Given the description of an element on the screen output the (x, y) to click on. 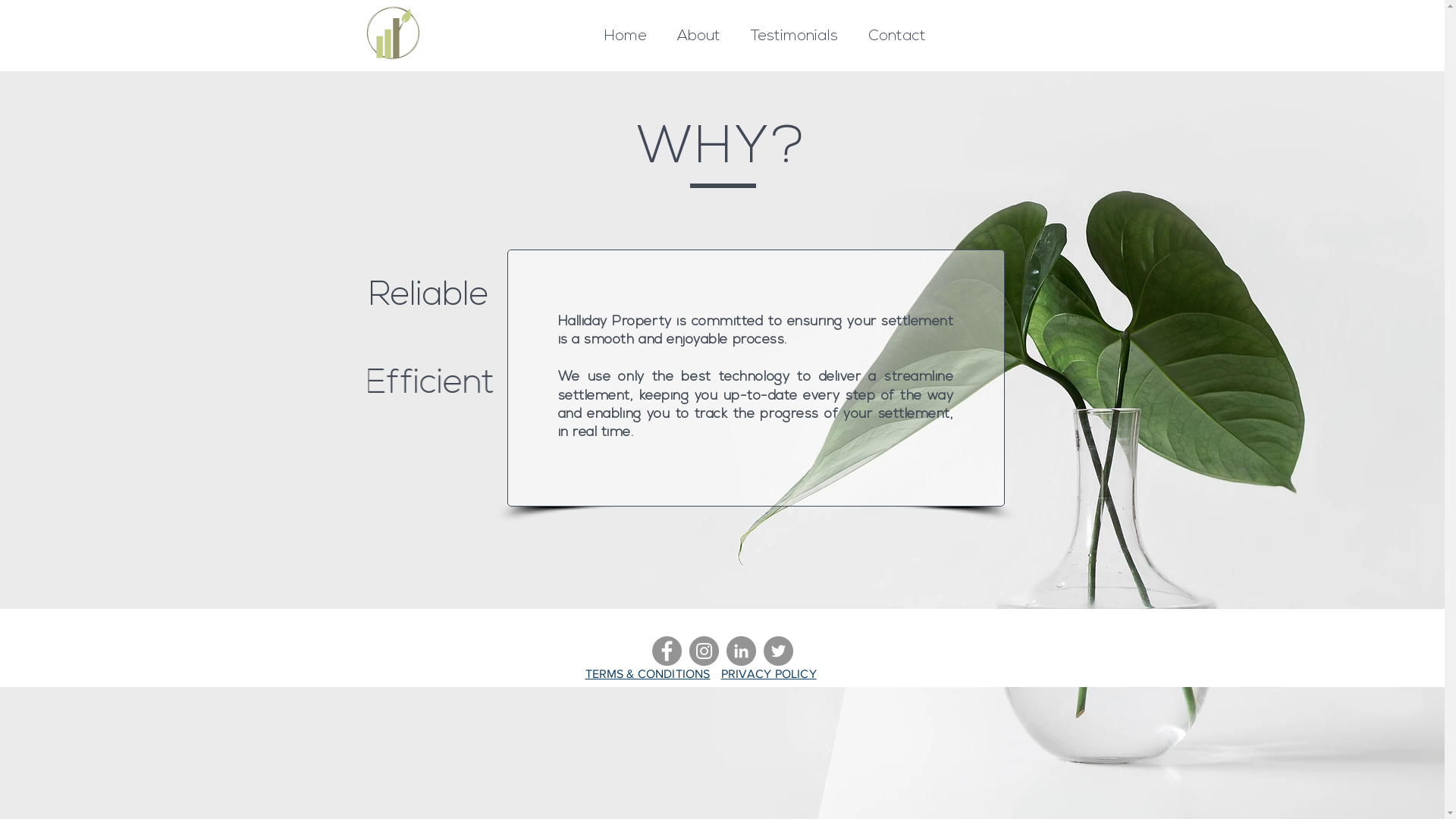
About Element type: text (698, 34)
Home Element type: text (625, 34)
PRIVACY POLICY Element type: text (767, 673)
Contact Element type: text (897, 34)
Testimonials Element type: text (794, 34)
Embedded Content Element type: hover (997, 348)
TERMS & CONDITIONS Element type: text (647, 673)
